Given the description of an element on the screen output the (x, y) to click on. 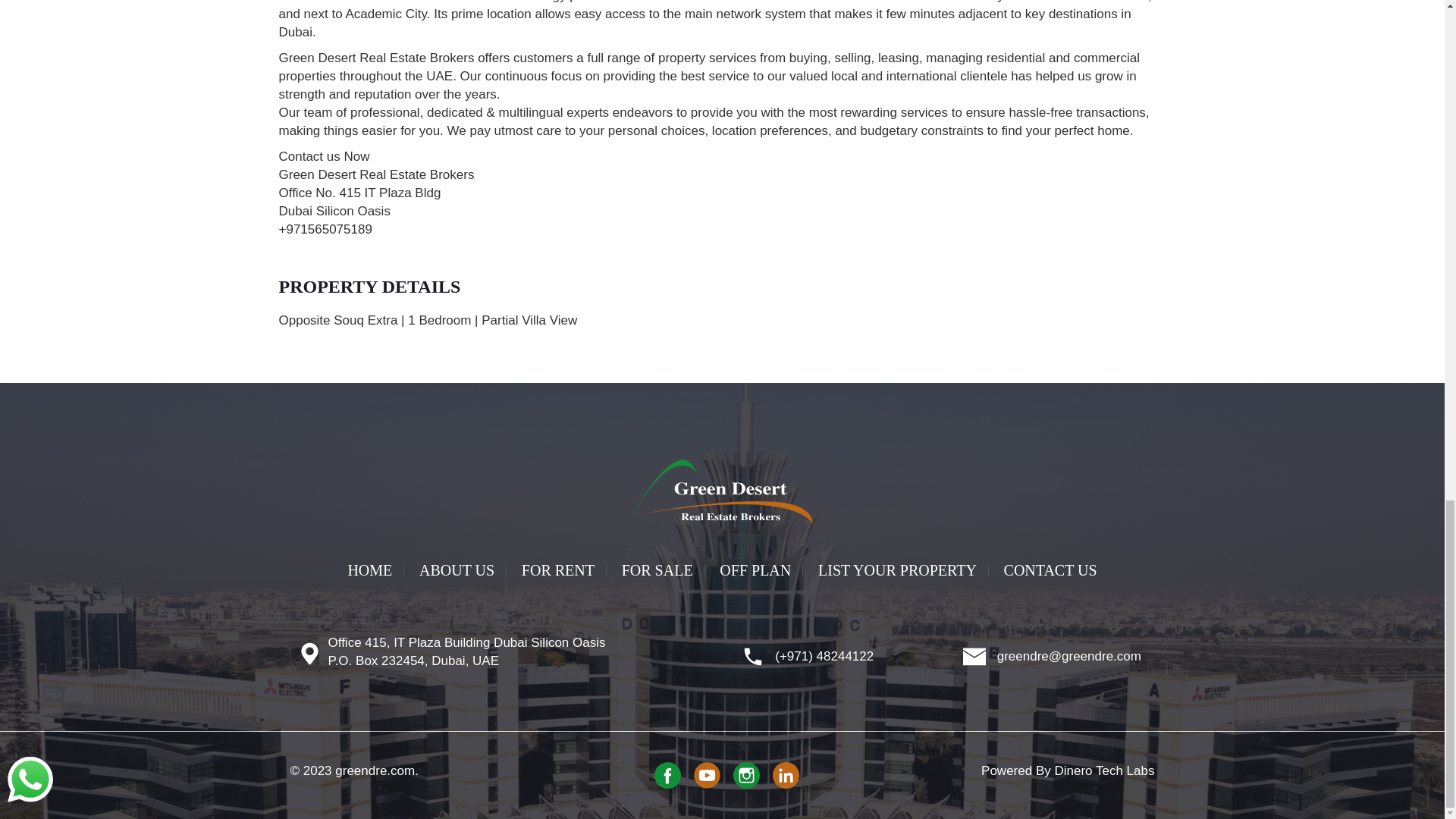
ABOUT US (456, 569)
FOR RENT (559, 569)
CONTACT US (1050, 569)
FOR SALE (657, 569)
Powered By Dinero Tech Labs (1067, 770)
HOME (370, 569)
LIST YOUR PROPERTY (897, 569)
OFF PLAN (755, 569)
